Given the description of an element on the screen output the (x, y) to click on. 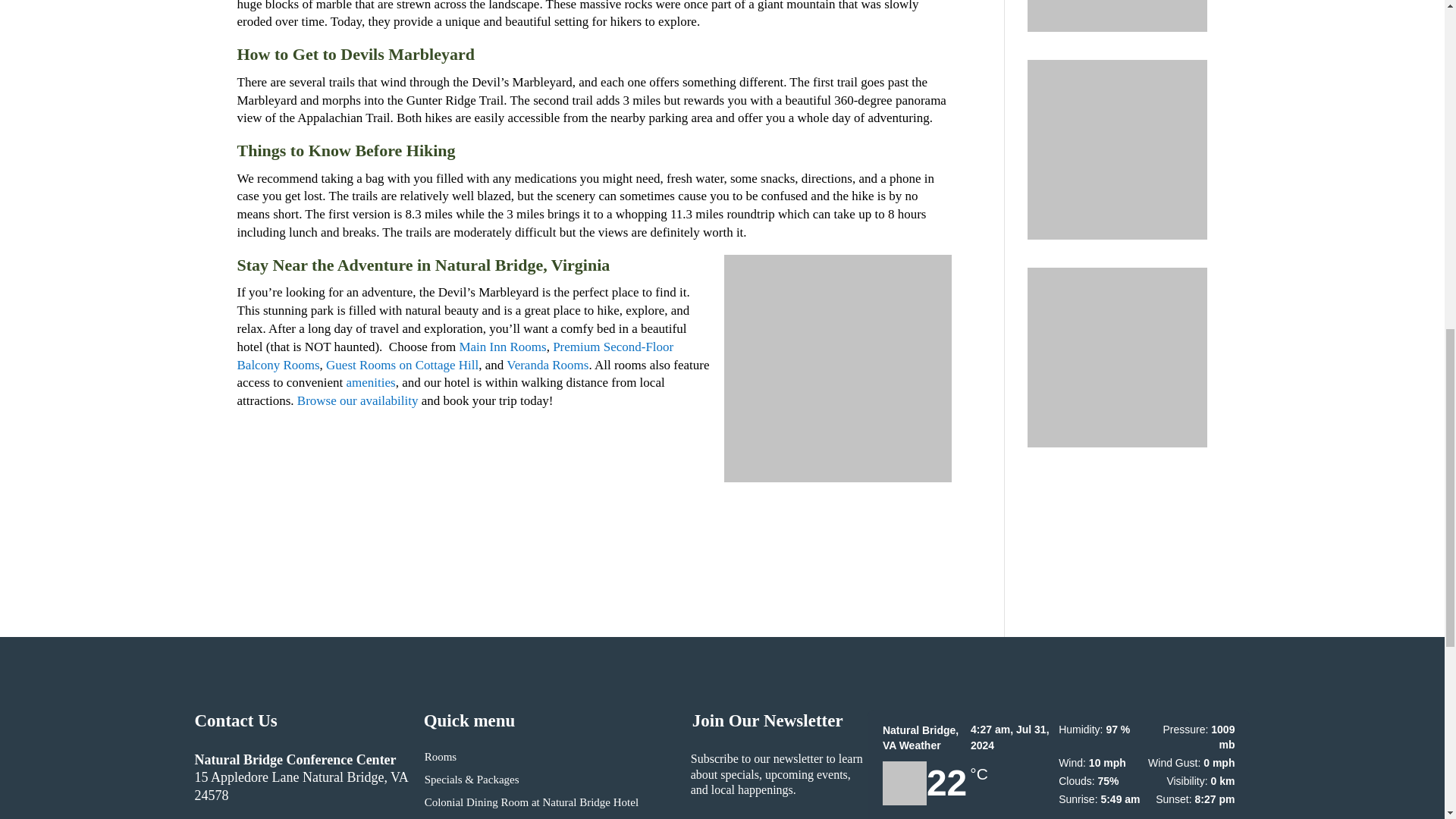
amenities (370, 382)
Veranda Rooms (547, 364)
Guest Rooms on Cottage Hill (402, 364)
Premium Second-Floor Balcony Rooms (453, 355)
Main Inn Rooms (502, 346)
Browse our availability (358, 400)
